Given the description of an element on the screen output the (x, y) to click on. 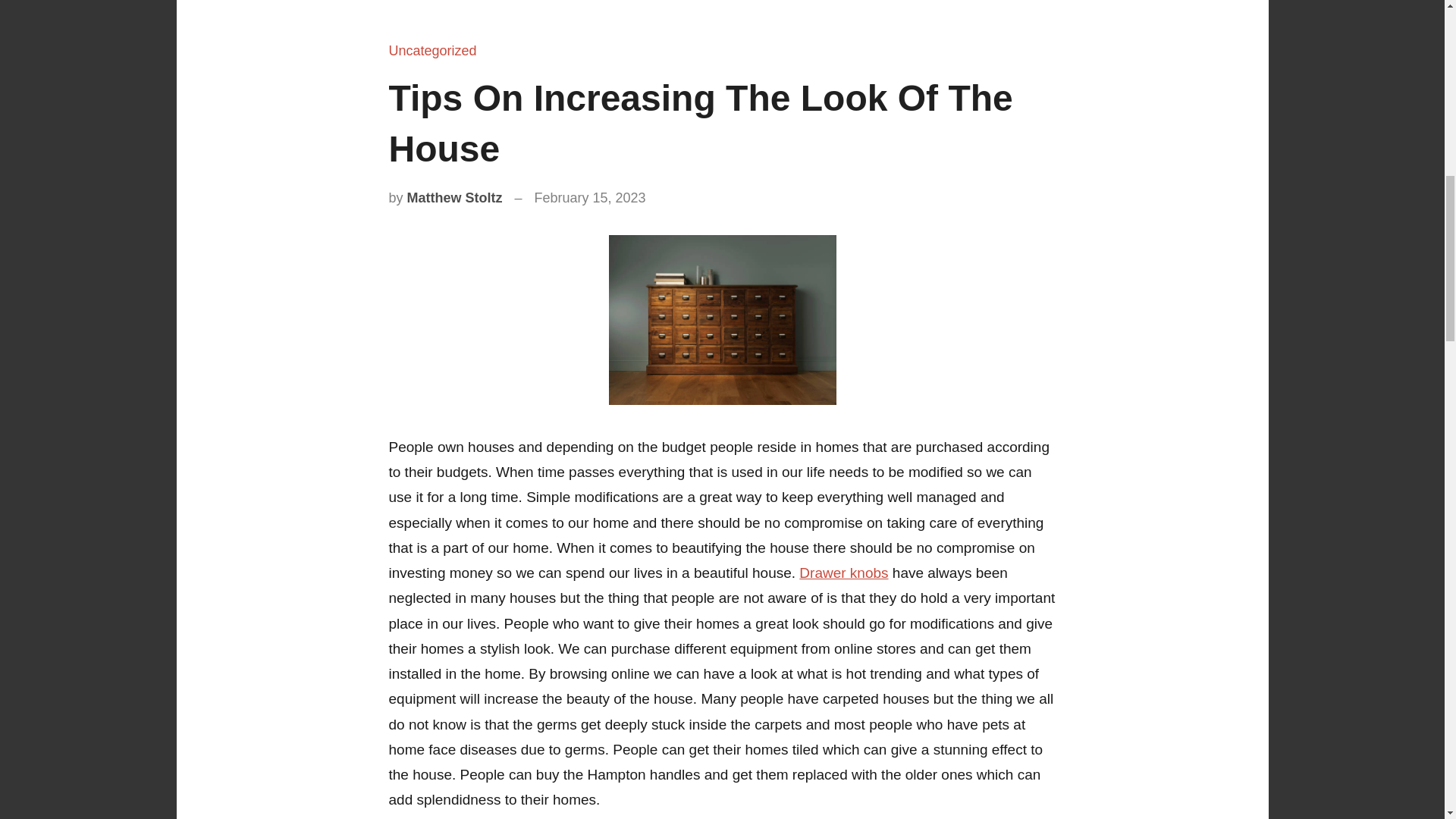
5.jpg (721, 320)
View all posts by Matthew Stoltz (454, 197)
Drawer knobs (843, 572)
February 15, 2023 (590, 197)
Matthew Stoltz (454, 197)
Uncategorized (432, 50)
